Given the description of an element on the screen output the (x, y) to click on. 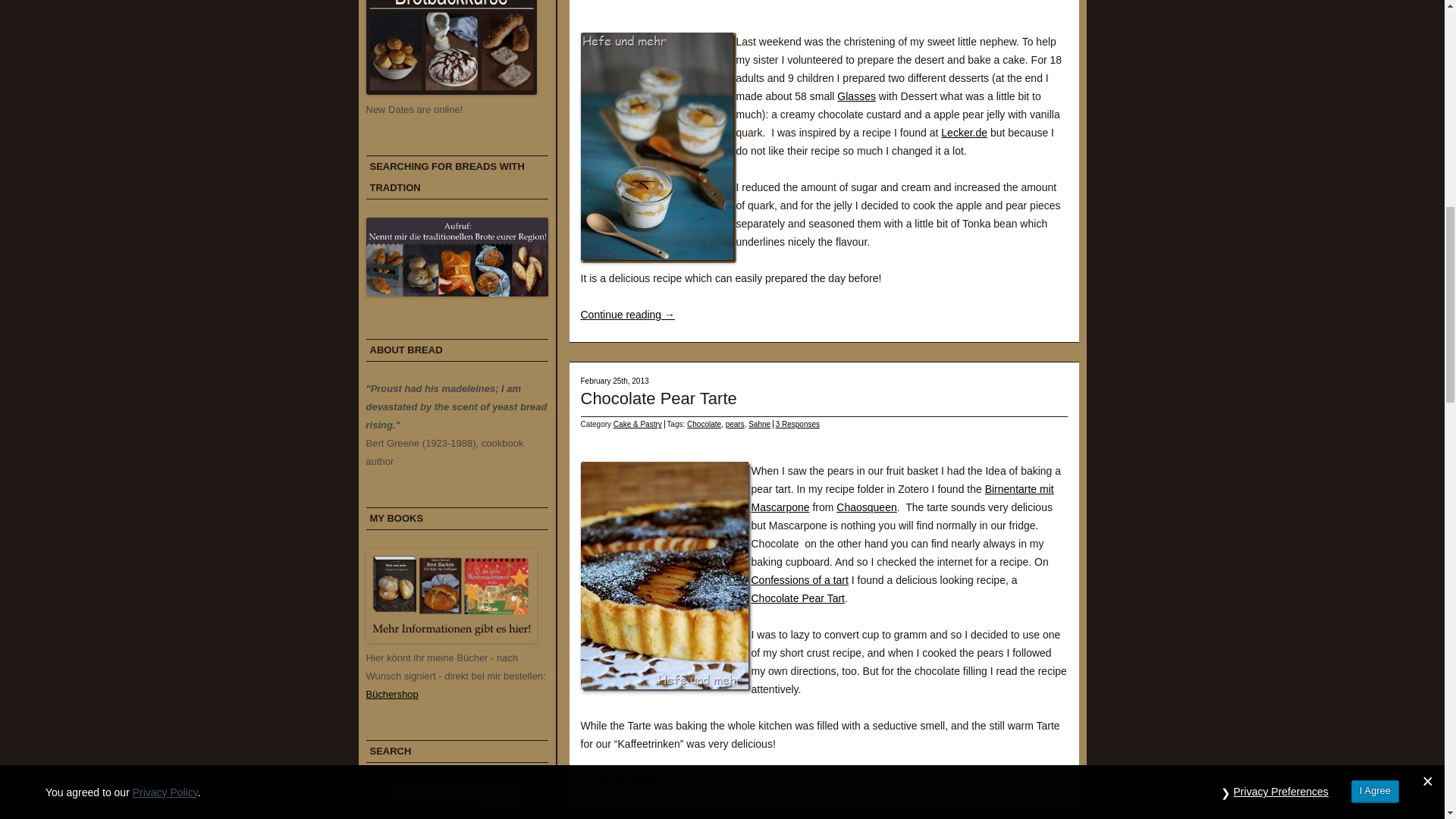
Chocolate Pear Tart (797, 598)
Chocolate (703, 424)
Regionale Brote mit Tradition gesucht (456, 292)
Birnentarte mit Mascarpone (901, 498)
pears (734, 424)
Sahne (759, 424)
Chocolate Pear Tarte (658, 398)
Brotbackkurse (450, 91)
Glasses (856, 96)
3 Responses (797, 424)
Lecker.de (963, 132)
Chaosqueen (865, 507)
Confessions of a tart (799, 580)
Permalink to Chocolate Pear Tarte (658, 398)
Search (498, 793)
